Given the description of an element on the screen output the (x, y) to click on. 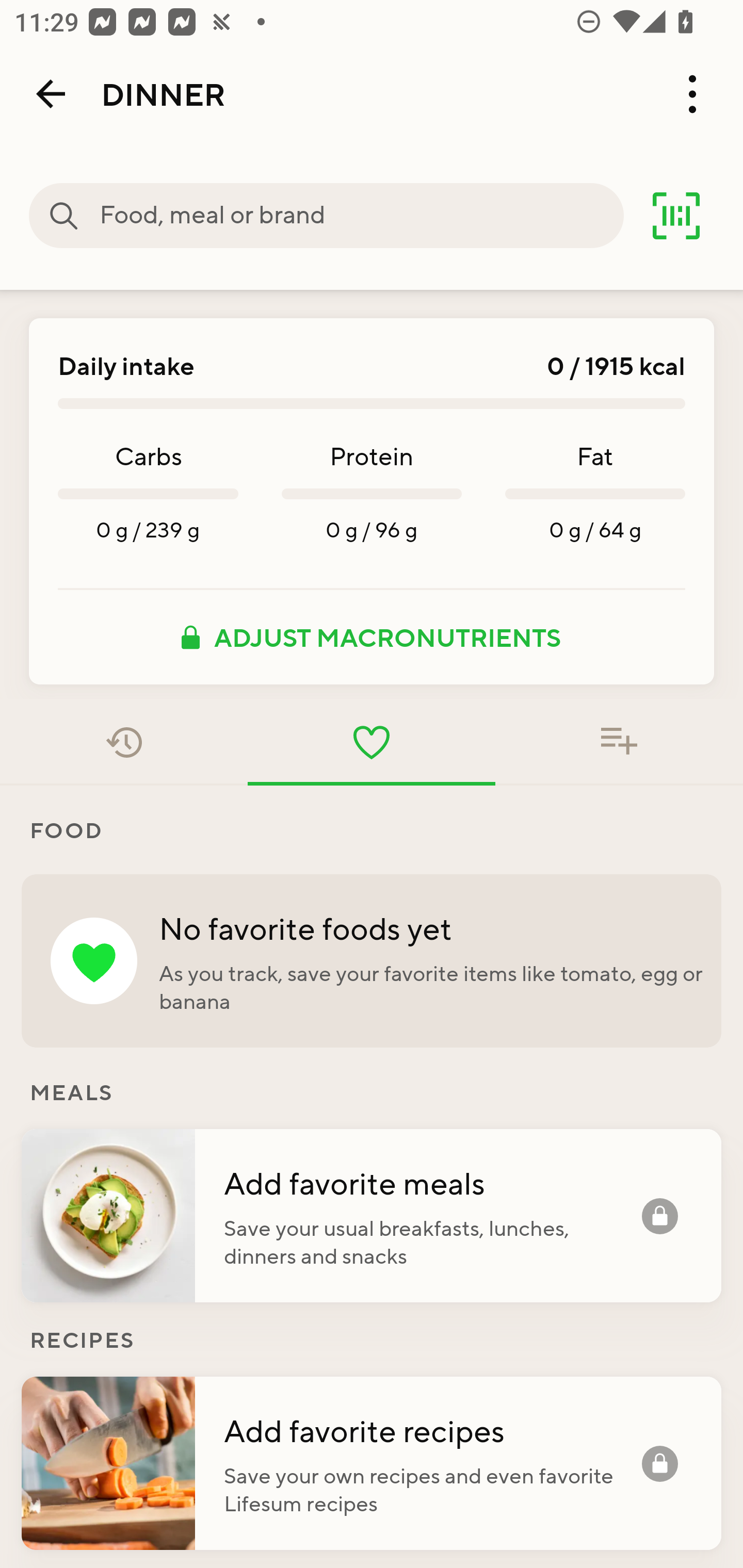
Back (50, 93)
Food, meal or brand (63, 215)
Food, meal or brand (361, 215)
ADJUST MACRONUTRIENTS (371, 637)
Recent (123, 742)
Food added (619, 742)
Add favorite meals (432, 1182)
Add favorite recipes (432, 1429)
